Given the description of an element on the screen output the (x, y) to click on. 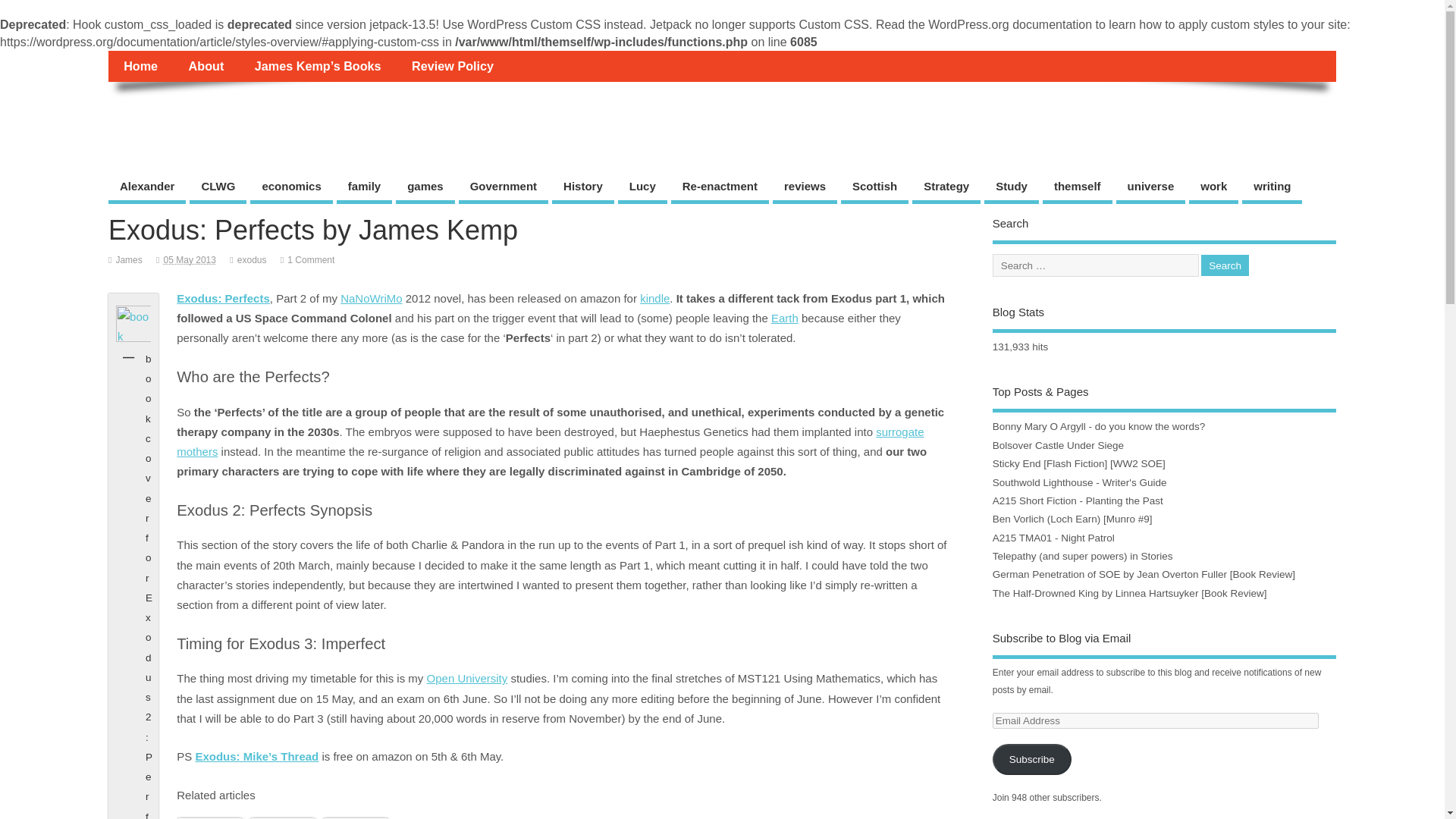
Strategy (945, 187)
Review Policy (452, 65)
family (363, 187)
work (1214, 187)
Re-enactment (719, 187)
games (425, 187)
Exodus: Perfects (222, 297)
Government (503, 187)
History (582, 187)
Search (1225, 265)
